Given the description of an element on the screen output the (x, y) to click on. 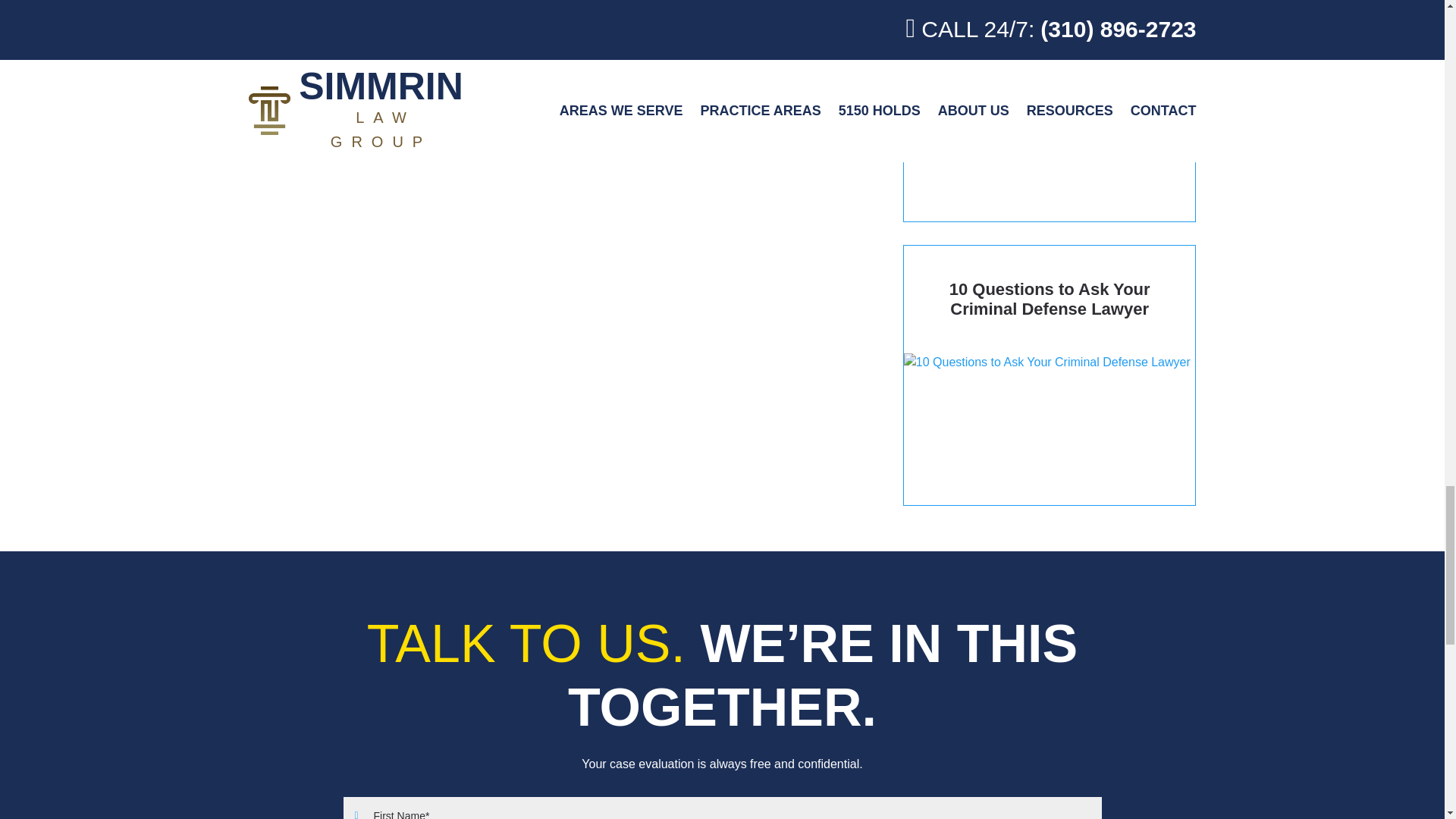
10 Questions to Ask Your Criminal Defense Lawyer (1049, 375)
